Given the description of an element on the screen output the (x, y) to click on. 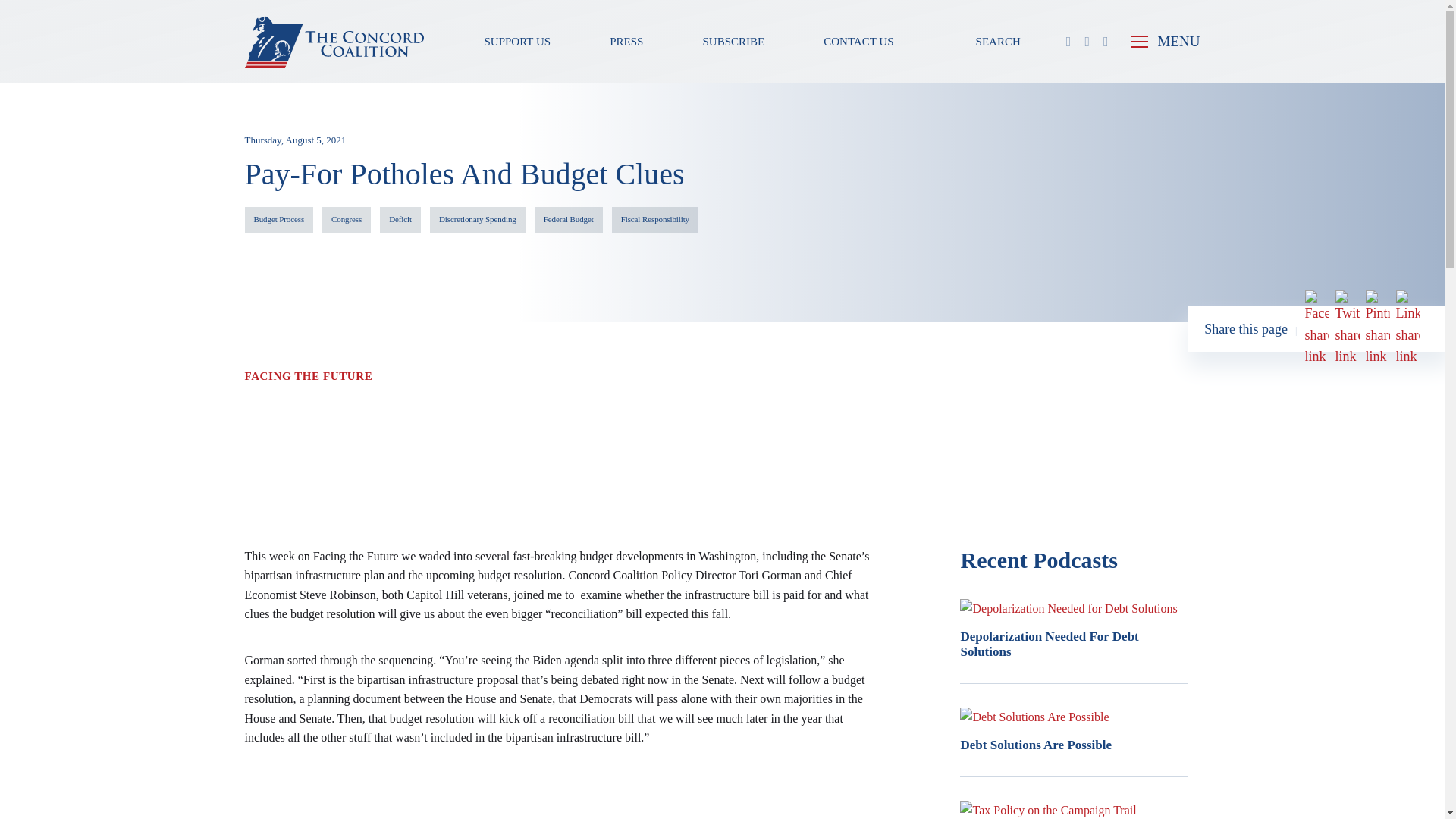
PRESS (626, 41)
Federal Budget (568, 219)
Why the National Debt Still Matters (558, 457)
Congress (346, 219)
Discretionary Spending (477, 219)
Budget Process (278, 219)
The Concord Coalition (333, 41)
SUBSCRIBE (732, 41)
SUPPORT US (517, 41)
Deficit (400, 219)
